Given the description of an element on the screen output the (x, y) to click on. 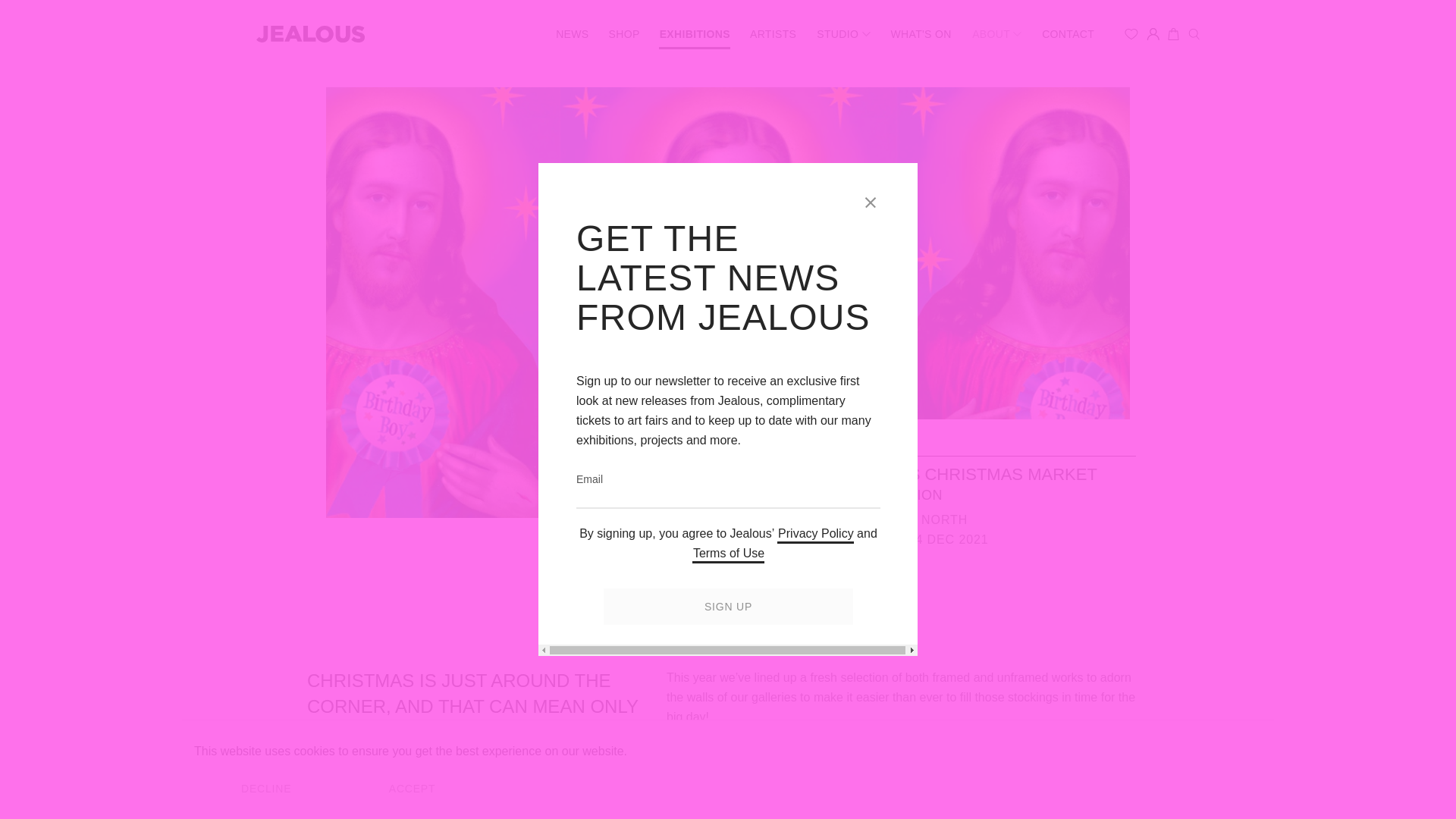
Visit the Contact page (1067, 33)
Visit the News page (571, 33)
ARTISTS (772, 33)
CONTACT (1067, 33)
SHOP (624, 33)
NEWS (571, 33)
ABOUT (996, 33)
EXHIBITIONS (694, 33)
Visit the What's on page (921, 33)
Visit the Exhibitions page (694, 33)
View your bag summary or go to the Shopping Bag page (1173, 33)
STUDIO (842, 33)
WHAT'S ON (921, 33)
Visit the Artists page (772, 33)
